Given the description of an element on the screen output the (x, y) to click on. 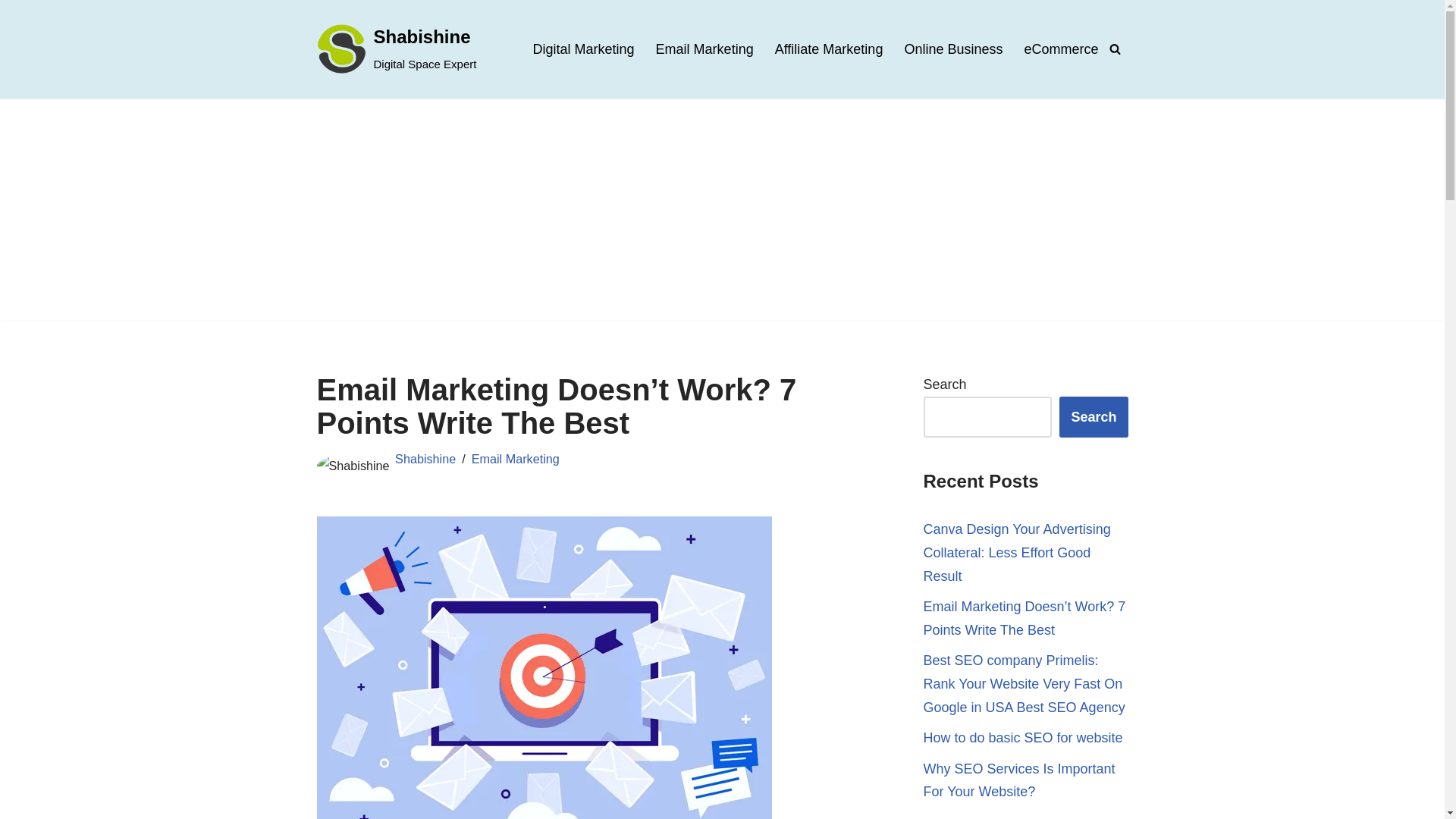
Digital Marketing (583, 48)
Posts by Shabishine (424, 459)
Affiliate Marketing (828, 48)
Shabishine (424, 459)
Online Business (953, 48)
Email Marketing (515, 459)
Skip to content (11, 31)
Search (1092, 417)
